Given the description of an element on the screen output the (x, y) to click on. 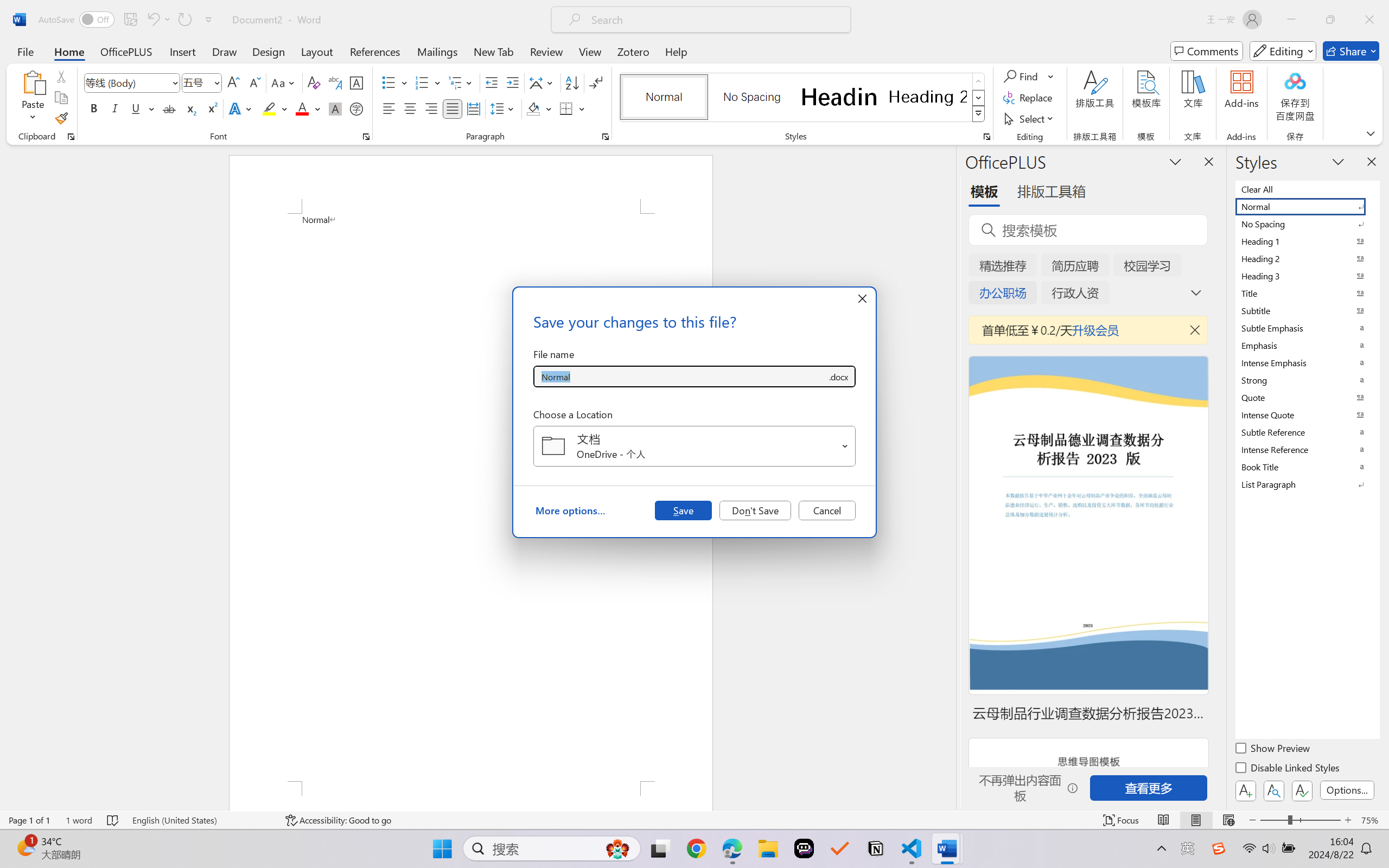
Page Number Page 1 of 1 (29, 819)
Heading 2 (927, 96)
Normal (1306, 206)
Font Size (201, 82)
Underline (142, 108)
Open (844, 446)
Bold (94, 108)
Quick Access Toolbar (127, 19)
Review (546, 51)
Accessibility Checker Accessibility: Good to go (338, 819)
